Given the description of an element on the screen output the (x, y) to click on. 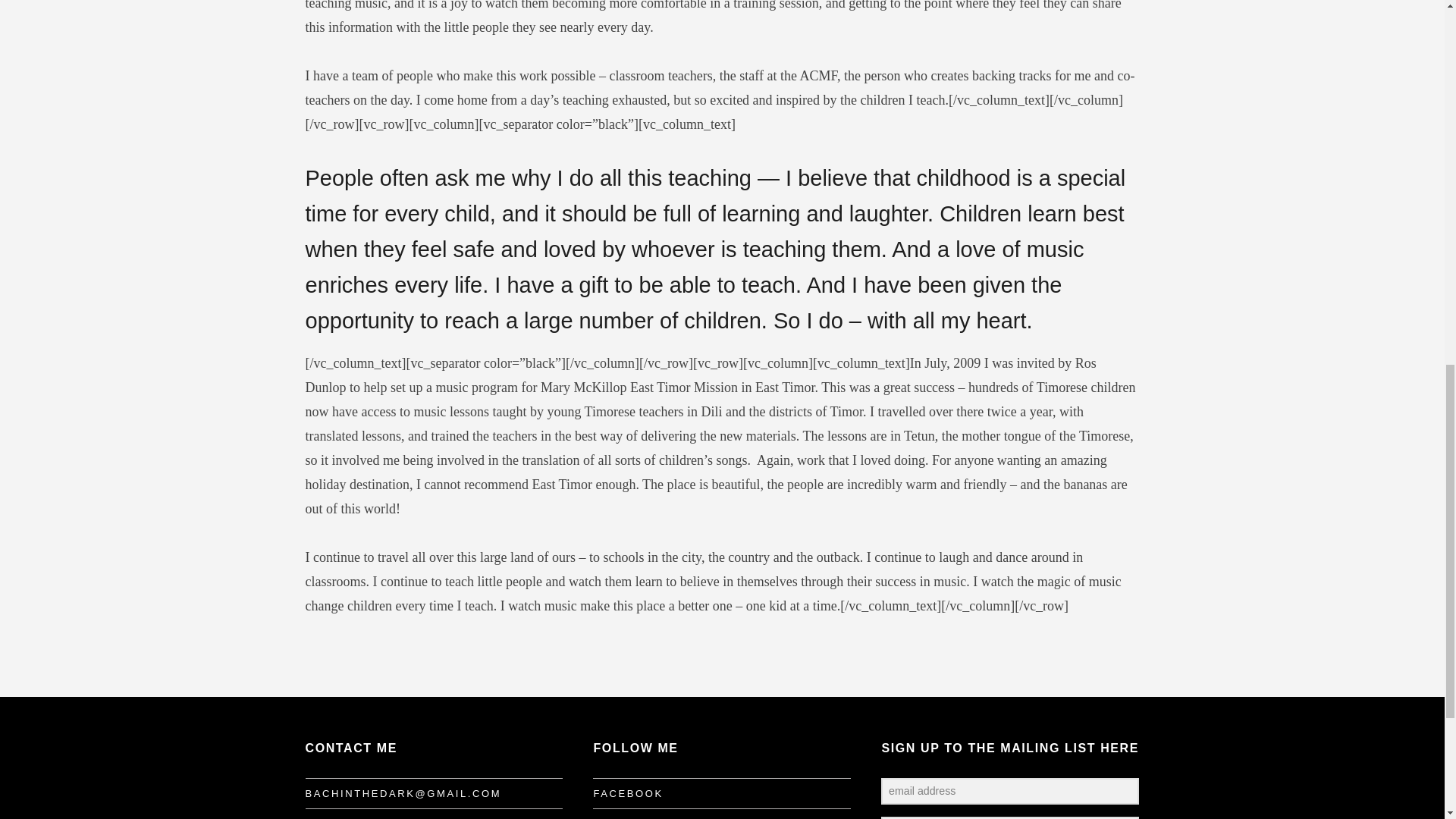
email address (1009, 791)
FACEBOOK (627, 793)
